Given the description of an element on the screen output the (x, y) to click on. 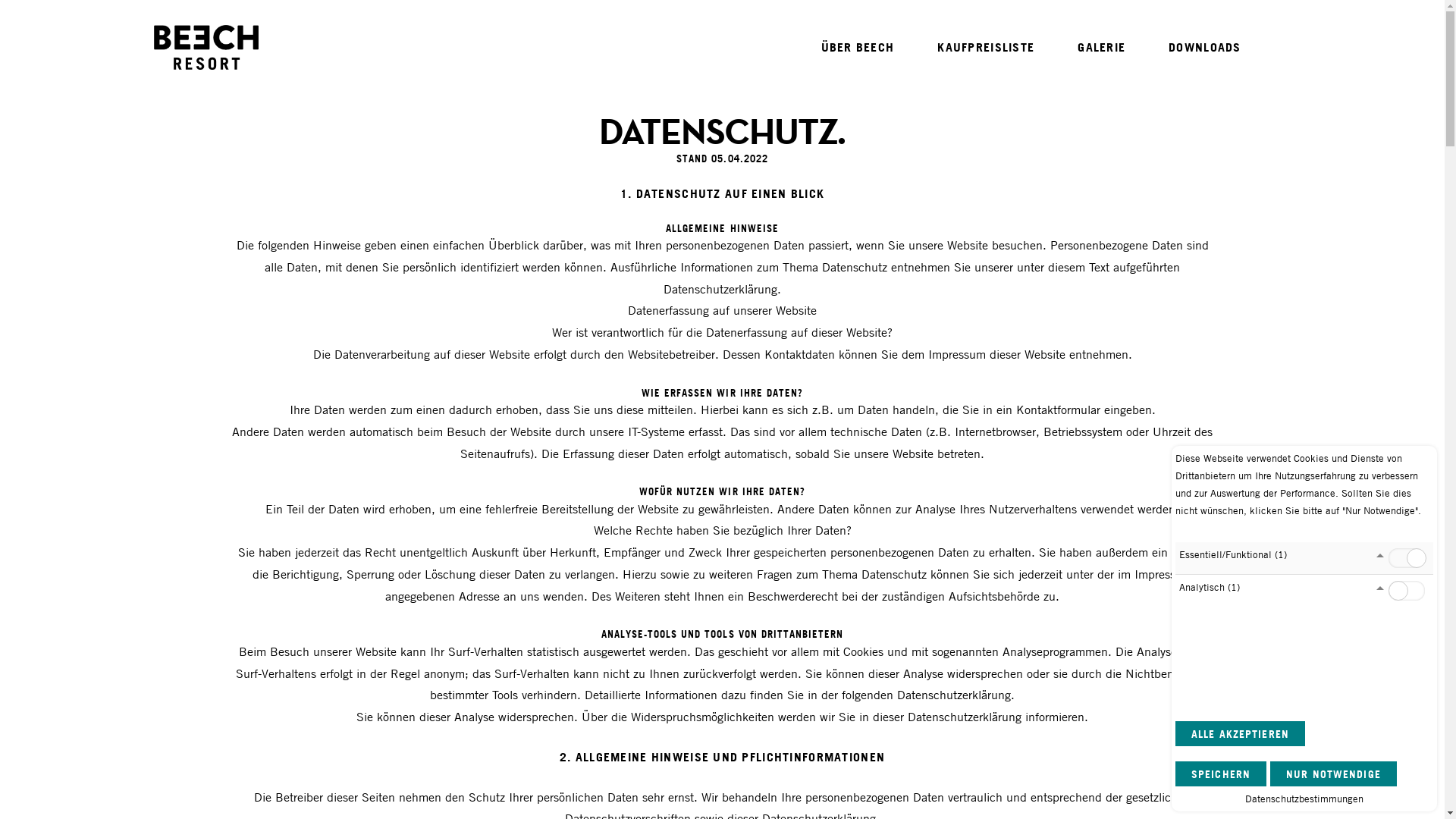
ALLE AKZEPTIEREN Element type: text (1240, 733)
KAUFPREISLISTE Element type: text (985, 46)
Datenschutzbestimmungen Element type: text (1304, 798)
SPEICHERN Element type: text (1220, 773)
DOWNLOADS Element type: text (1204, 46)
NUR NOTWENDIGE Element type: text (1333, 773)
GALERIE Element type: text (1101, 46)
